Given the description of an element on the screen output the (x, y) to click on. 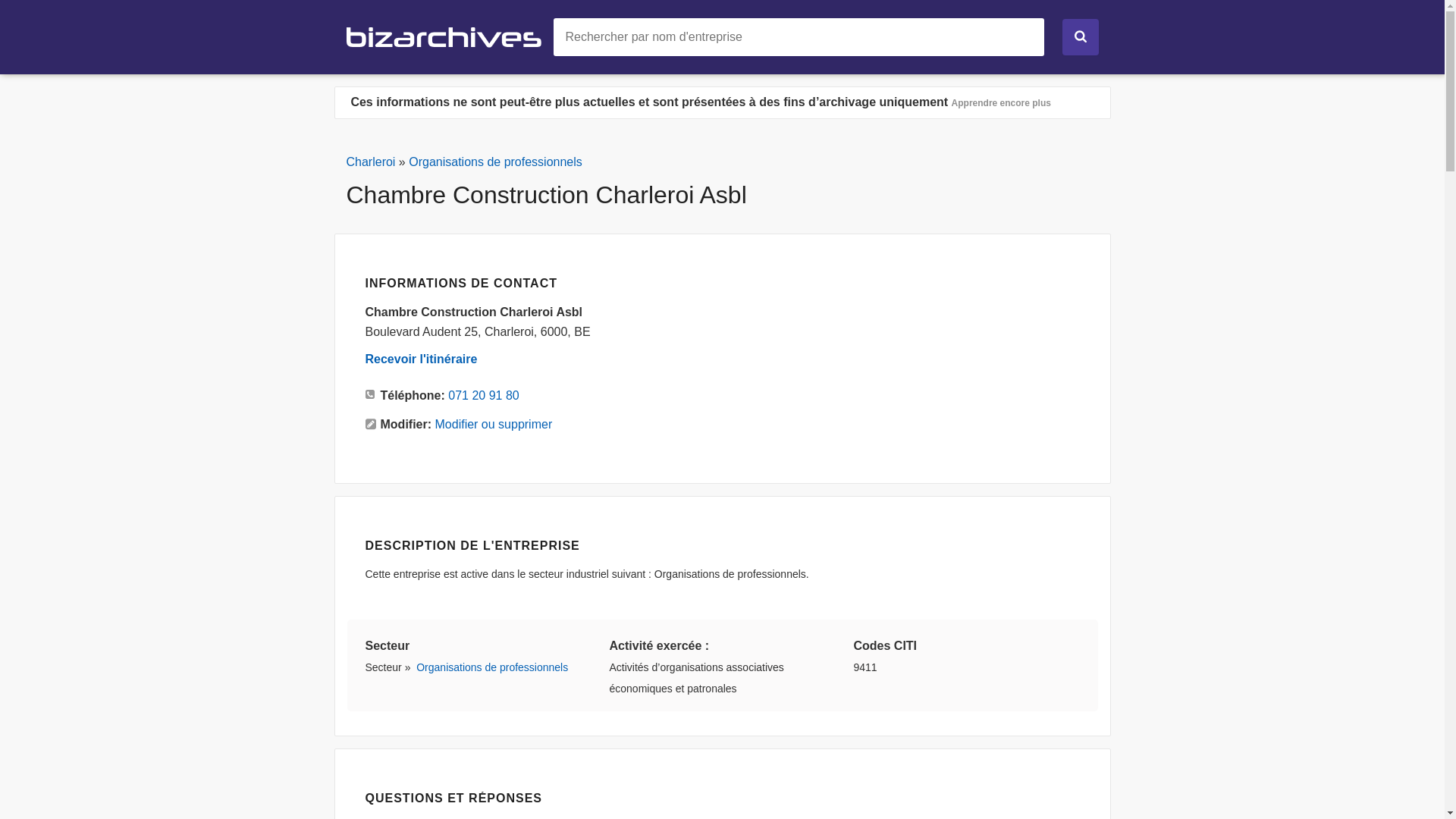
Modifier ou supprimer Element type: text (493, 425)
Page d Element type: hover (448, 35)
Apprendre encore plus Element type: text (1001, 102)
Organisations de professionnels Element type: text (491, 667)
Organisations de professionnels Element type: text (495, 161)
Charleroi Element type: text (370, 161)
071 20 91 80 Element type: text (483, 395)
